Given the description of an element on the screen output the (x, y) to click on. 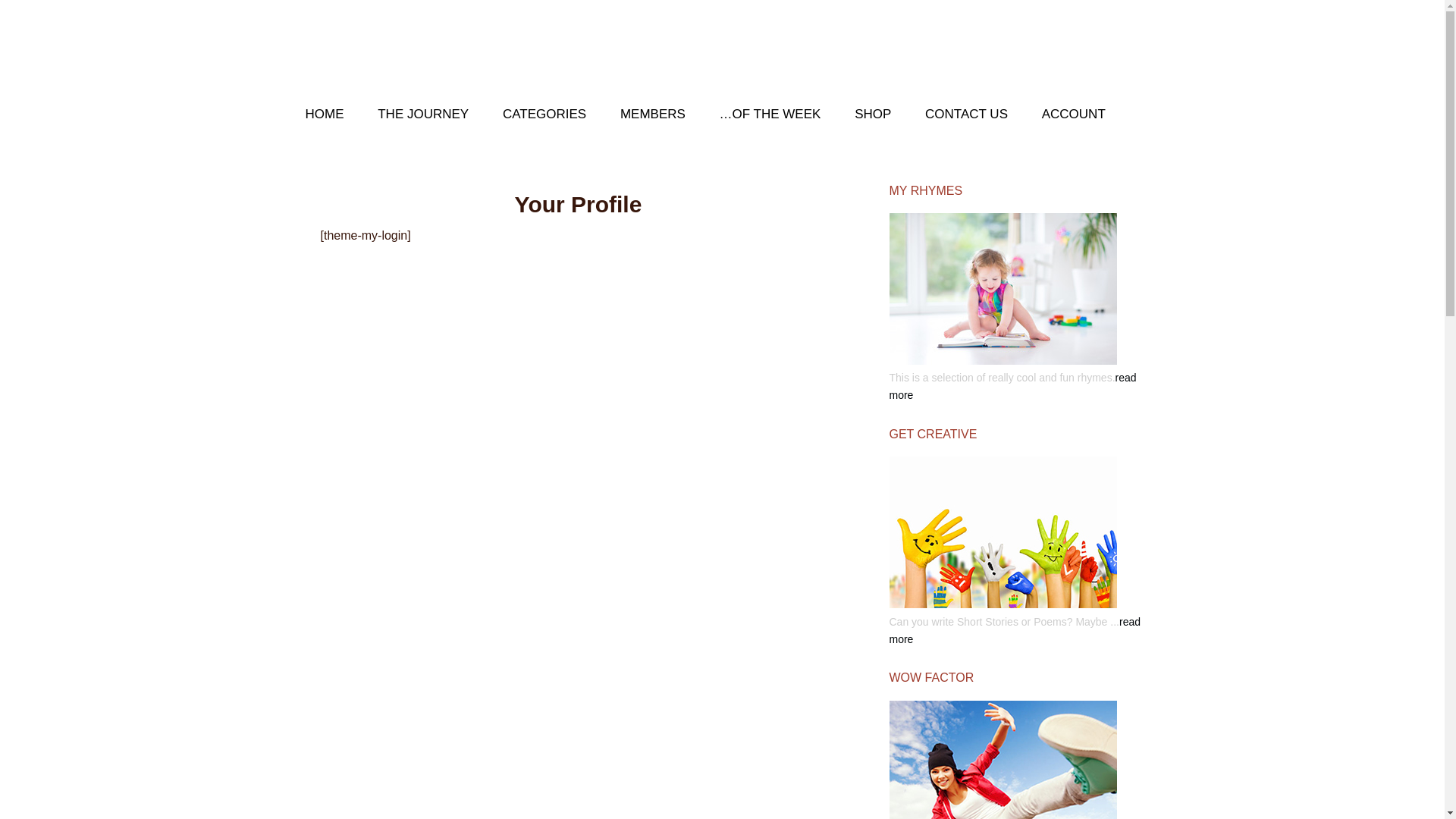
CHECK THIS OUT Element type: text (440, 45)
MEMBERS Element type: text (652, 114)
SHOP Element type: text (872, 114)
CONTACT US Element type: text (966, 114)
HOME Element type: text (323, 114)
THE JOURNEY Element type: text (422, 114)
ACCOUNT Element type: text (1073, 114)
GET CREATIVE Element type: text (1021, 433)
WOW FACTOR Element type: text (1021, 677)
read more Element type: text (1014, 630)
CATEGORIES Element type: text (544, 114)
read more Element type: text (1011, 386)
MY RHYMES Element type: text (1021, 190)
